Given the description of an element on the screen output the (x, y) to click on. 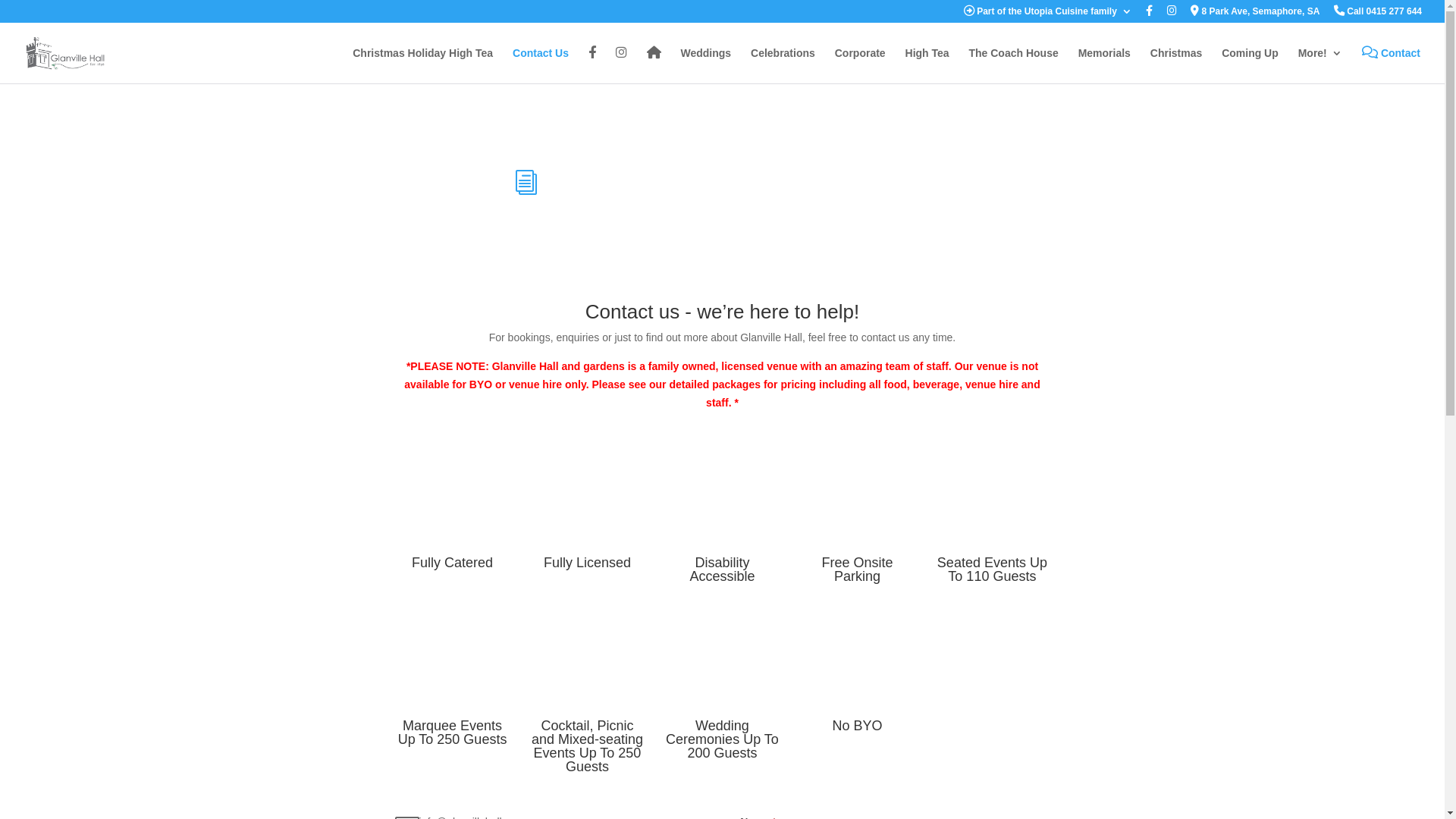
Celebrations Element type: text (782, 65)
Contact Element type: text (1390, 65)
Contact Us Element type: text (540, 65)
Facebook Element type: text (1148, 14)
Corporate Element type: text (859, 65)
i Element type: text (526, 182)
Facebook Element type: text (592, 65)
Home Element type: text (653, 65)
More! Element type: text (1320, 65)
Memorials Element type: text (1104, 65)
Christmas Holiday High Tea Element type: text (422, 65)
Part of the Utopia Cuisine family Element type: text (1047, 14)
Call 0415 277 644 Element type: text (1377, 14)
Coming Up Element type: text (1249, 65)
Instagram Element type: text (1171, 14)
8 Park Ave, Semaphore, SA Element type: text (1254, 14)
High Tea Element type: text (927, 65)
Instagram Element type: text (621, 65)
Christmas Element type: text (1175, 65)
The Coach House Element type: text (1012, 65)
Weddings Element type: text (705, 65)
